Given the description of an element on the screen output the (x, y) to click on. 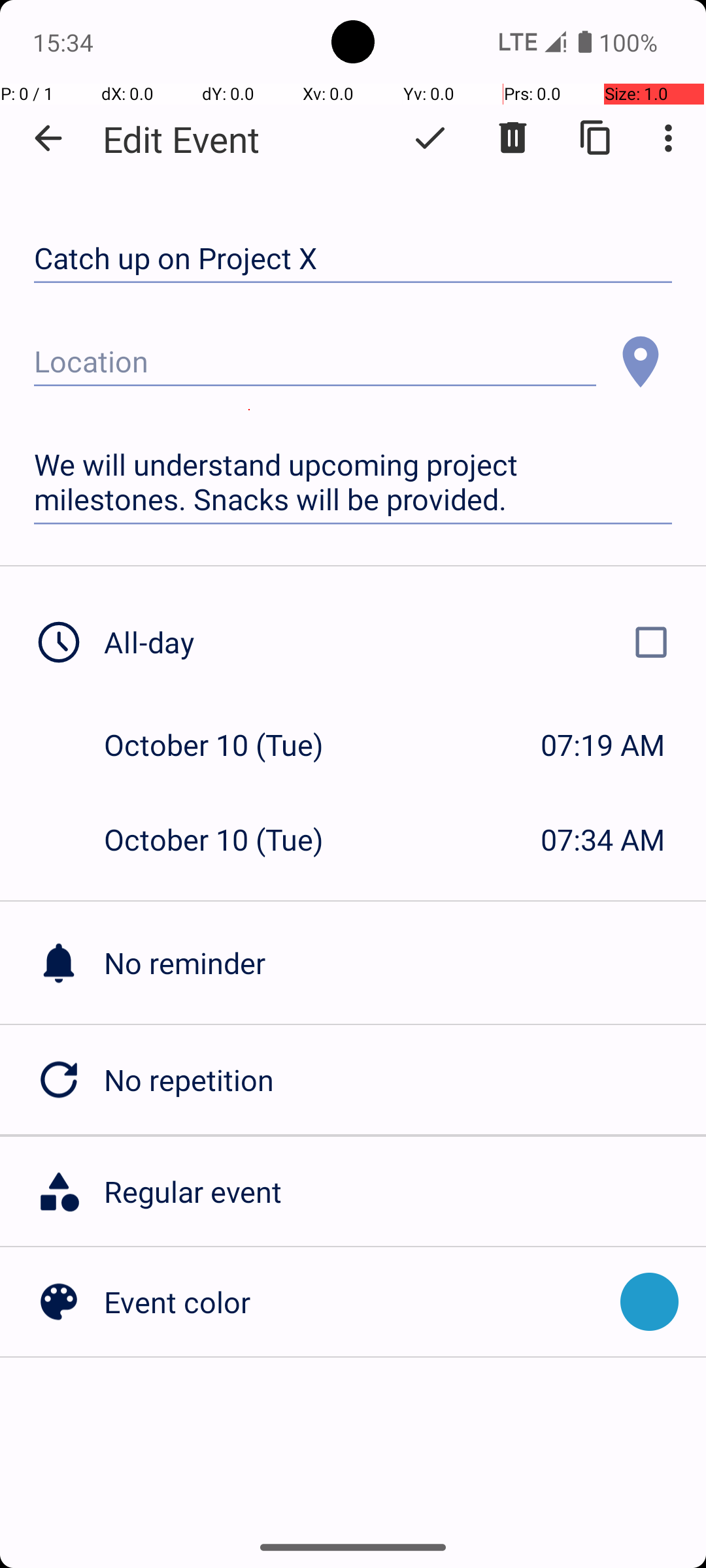
We will understand upcoming project milestones. Snacks will be provided. Element type: android.widget.EditText (352, 482)
October 10 (Tue) Element type: android.widget.TextView (227, 744)
07:19 AM Element type: android.widget.TextView (602, 744)
07:34 AM Element type: android.widget.TextView (602, 838)
